Given the description of an element on the screen output the (x, y) to click on. 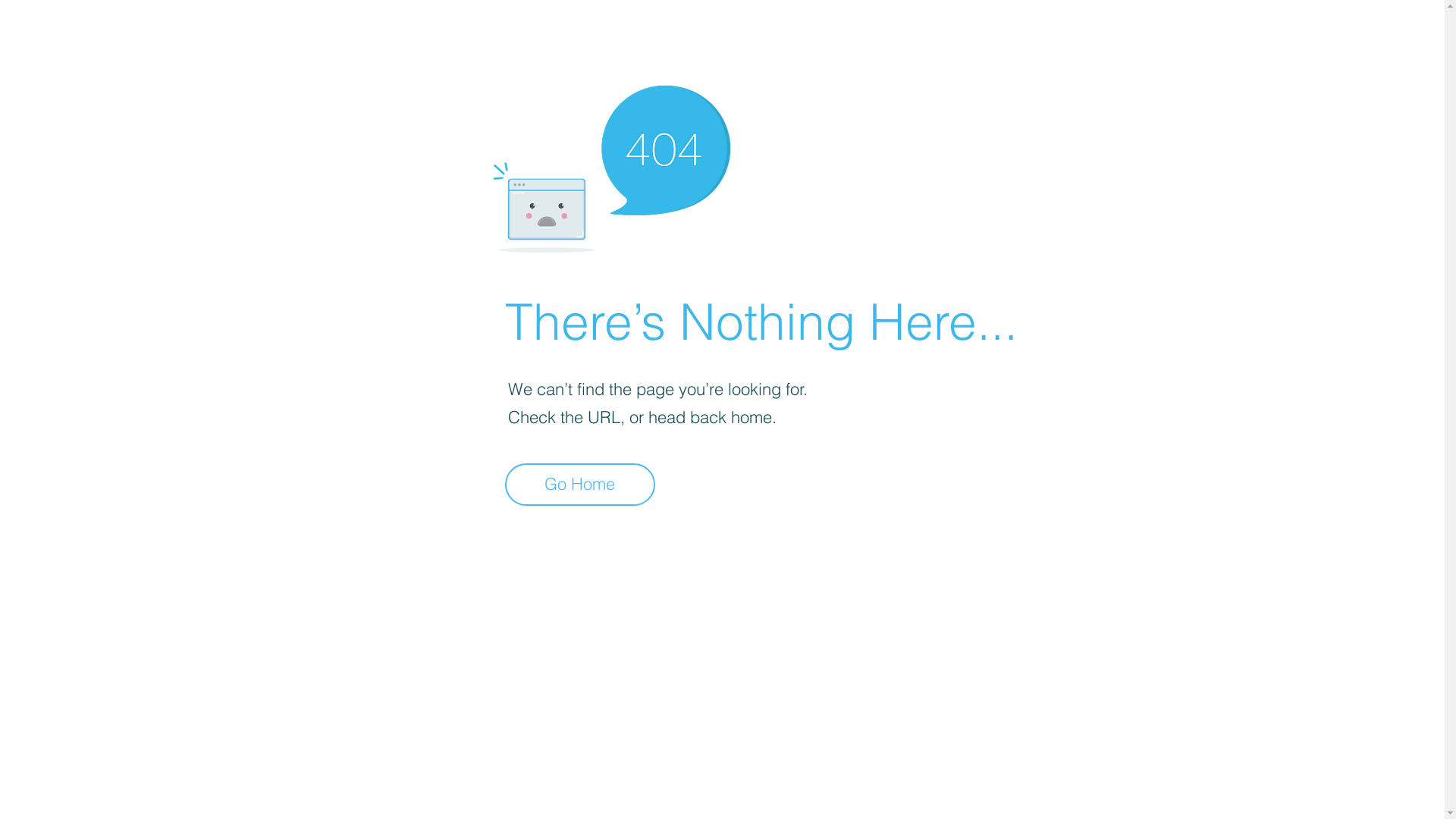
404-icon_2.png Element type: hover (610, 164)
Go Home Element type: text (580, 484)
